Given the description of an element on the screen output the (x, y) to click on. 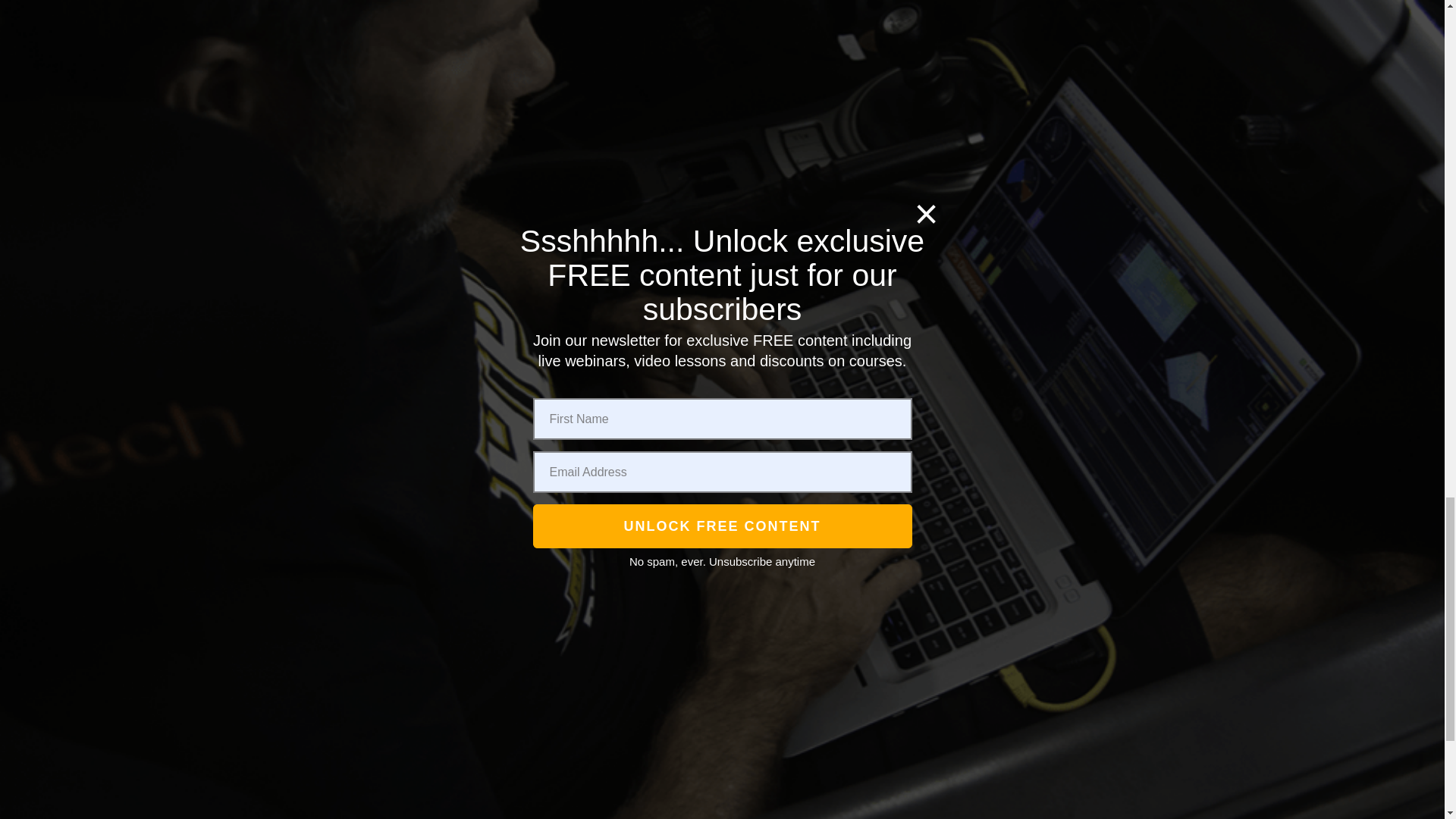
Click here to view David Ferguson (355, 28)
Click here to reply to this topic (1009, 171)
